Given the description of an element on the screen output the (x, y) to click on. 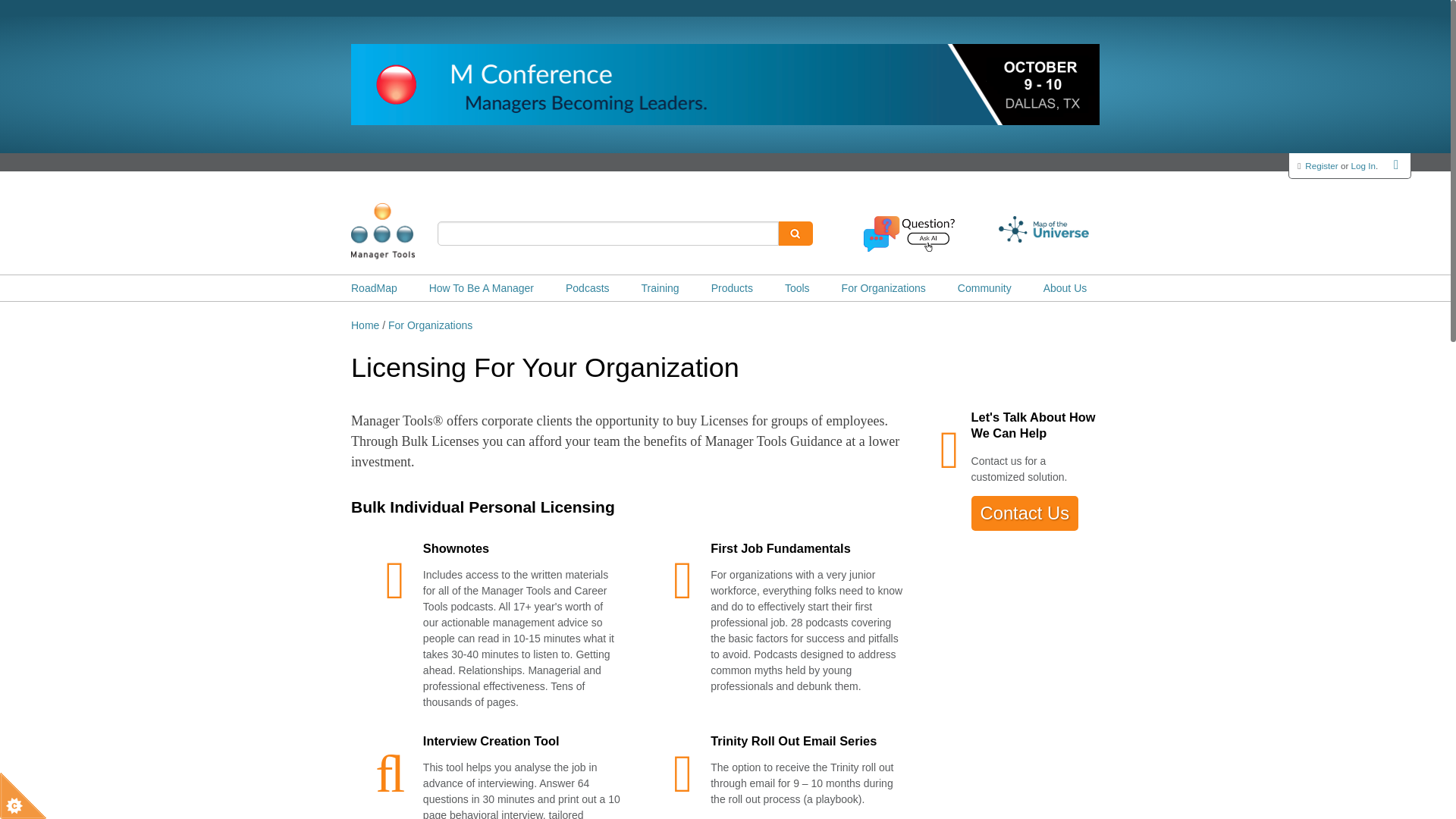
How To Be A Manager (481, 288)
Training (660, 288)
Log In (1363, 165)
Enter the terms you wish to search for. (608, 233)
RoadMap (373, 288)
Search (795, 233)
Register (1321, 165)
Search (795, 233)
Podcasts (588, 288)
Home (406, 231)
